Given the description of an element on the screen output the (x, y) to click on. 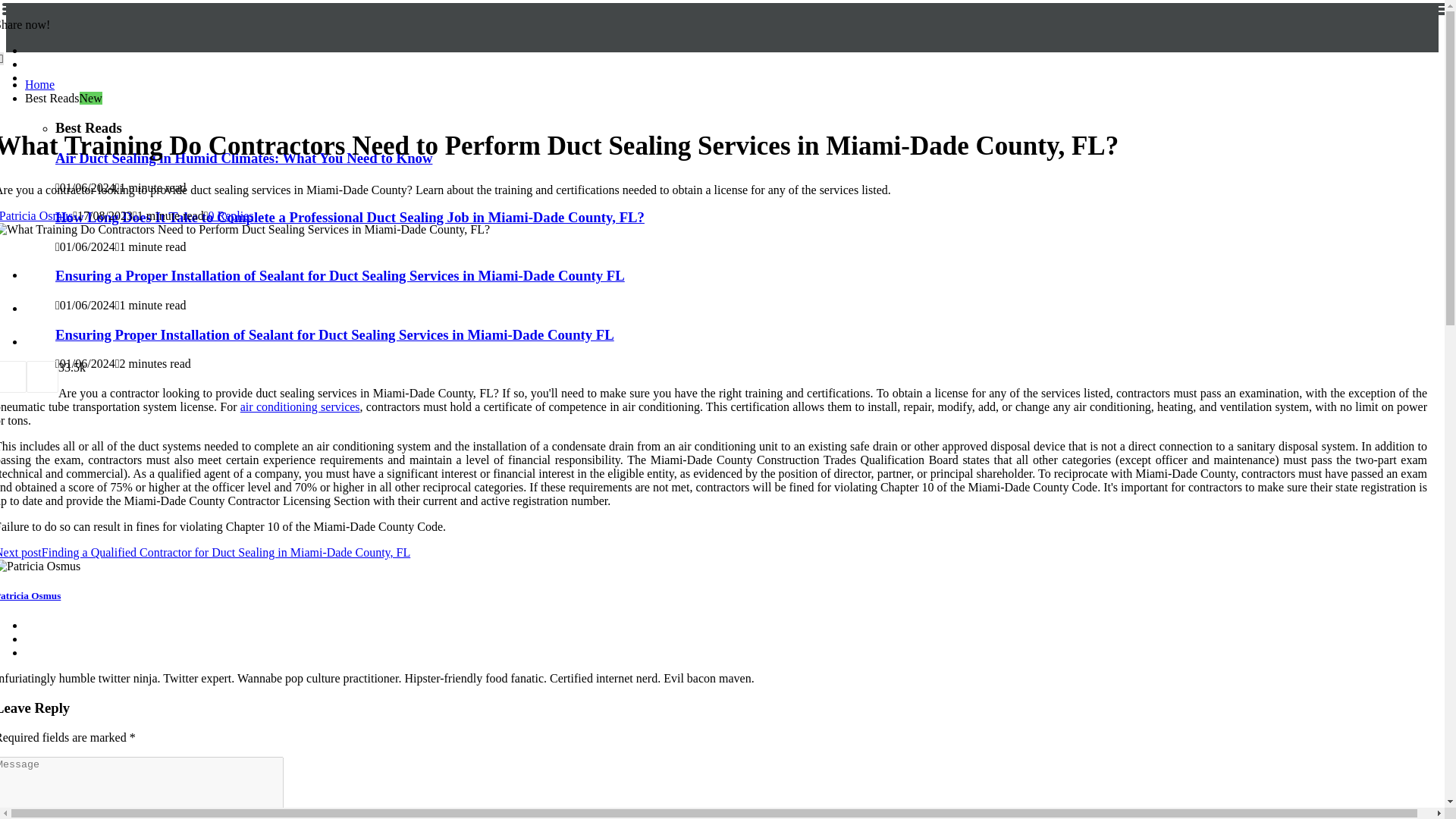
0 Replies (230, 215)
Air Duct Sealing in Humid Climates: What You Need to Know (243, 157)
Best ReadsNew (62, 97)
Home (39, 83)
air conditioning services (299, 406)
Posts by Patricia Osmus (36, 215)
Patricia Osmus (36, 215)
Patricia Osmus (30, 595)
